Given the description of an element on the screen output the (x, y) to click on. 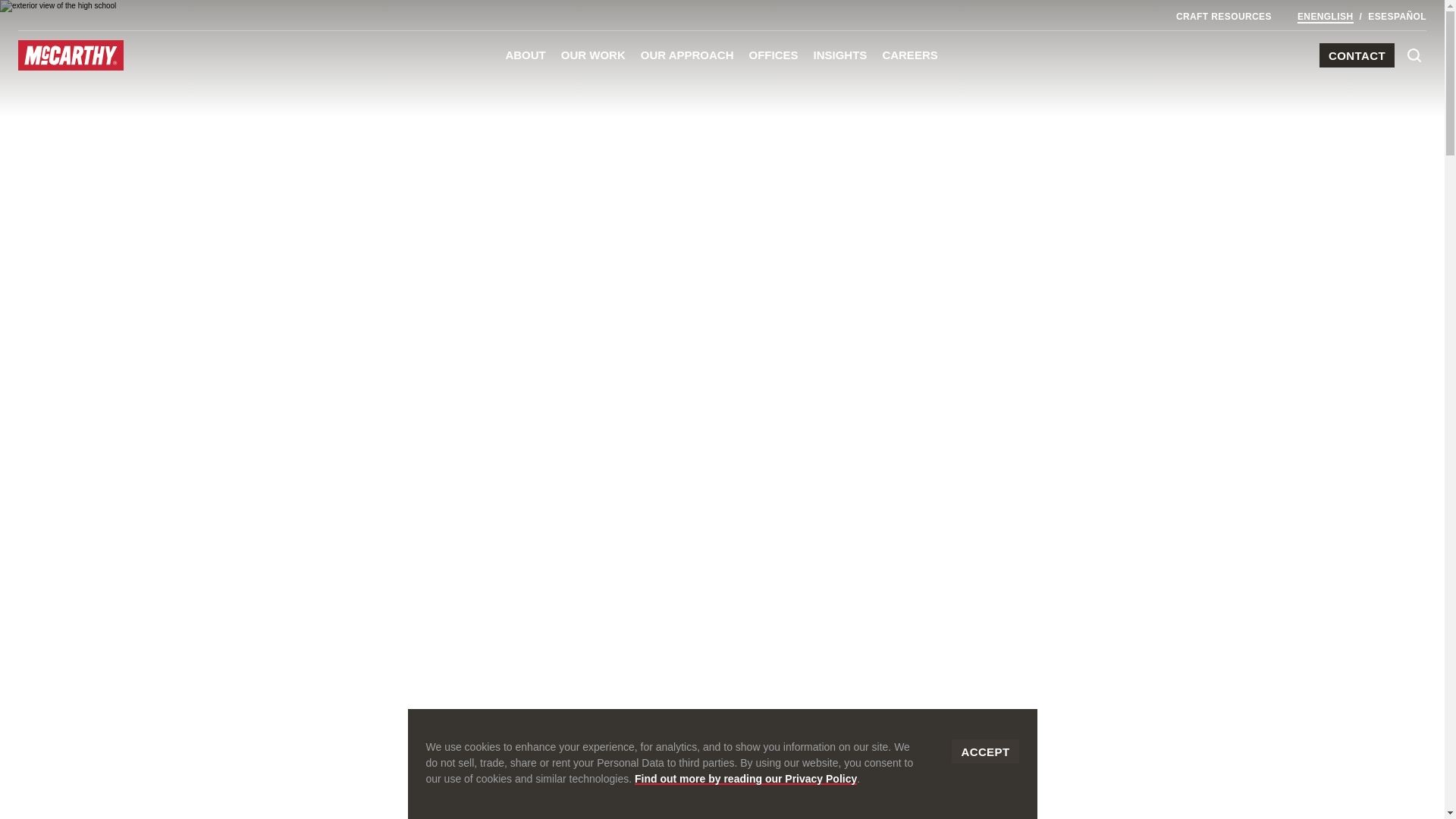
ACCEPT (984, 751)
OUR WORK (593, 54)
Find out more by reading our Privacy Policy (745, 778)
ABOUT (524, 54)
